Given the description of an element on the screen output the (x, y) to click on. 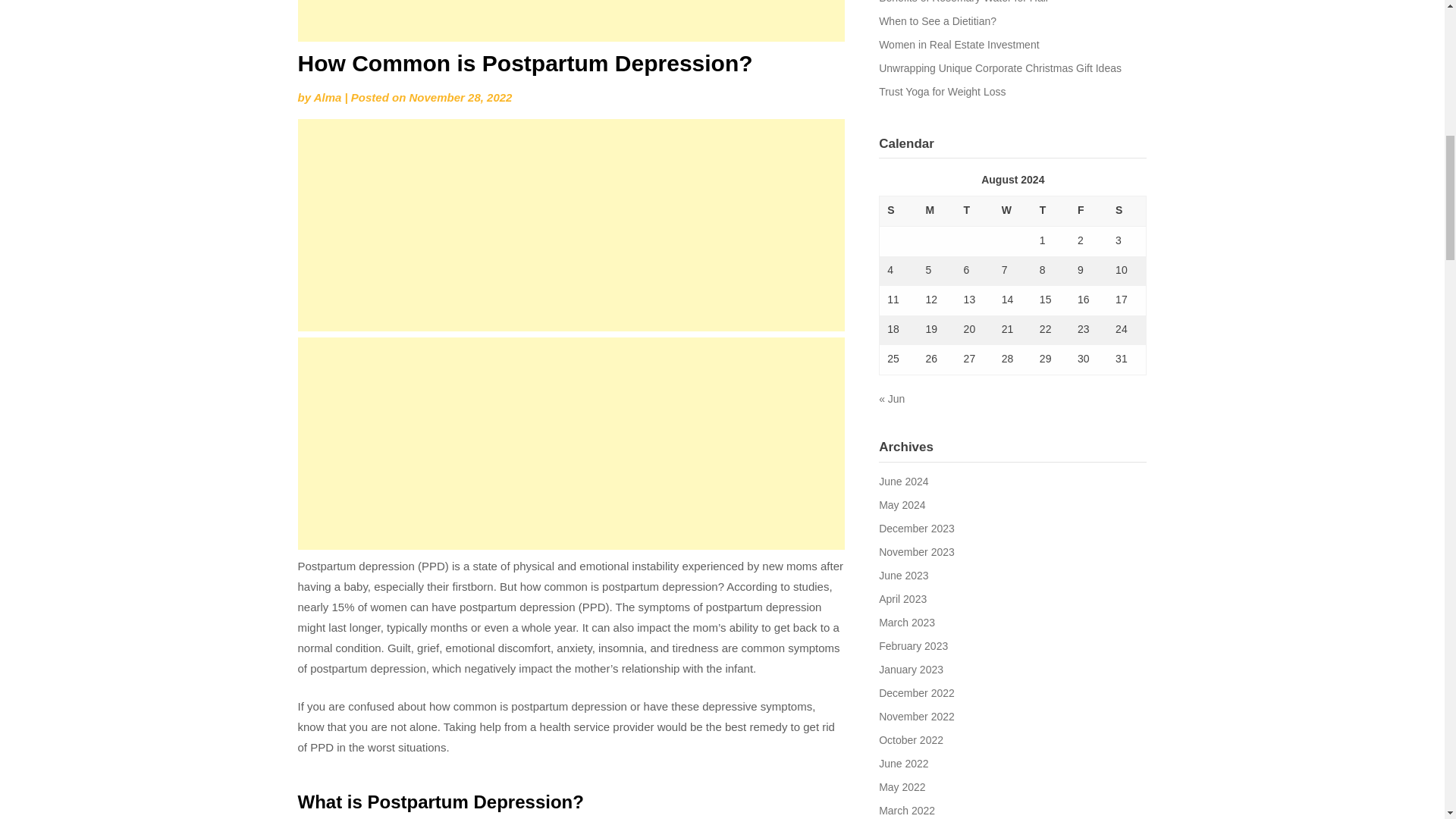
November 28, 2022 (460, 97)
Alma (328, 97)
Sunday (898, 211)
When to See a Dietitian? (937, 21)
Wednesday (1013, 211)
Women in Real Estate Investment (959, 44)
Thursday (1051, 211)
Unwrapping Unique Corporate Christmas Gift Ideas (1000, 68)
Tuesday (975, 211)
Benefits of Rosemary Water for Hair (963, 2)
Saturday (1127, 211)
Friday (1089, 211)
Monday (936, 211)
